Given the description of an element on the screen output the (x, y) to click on. 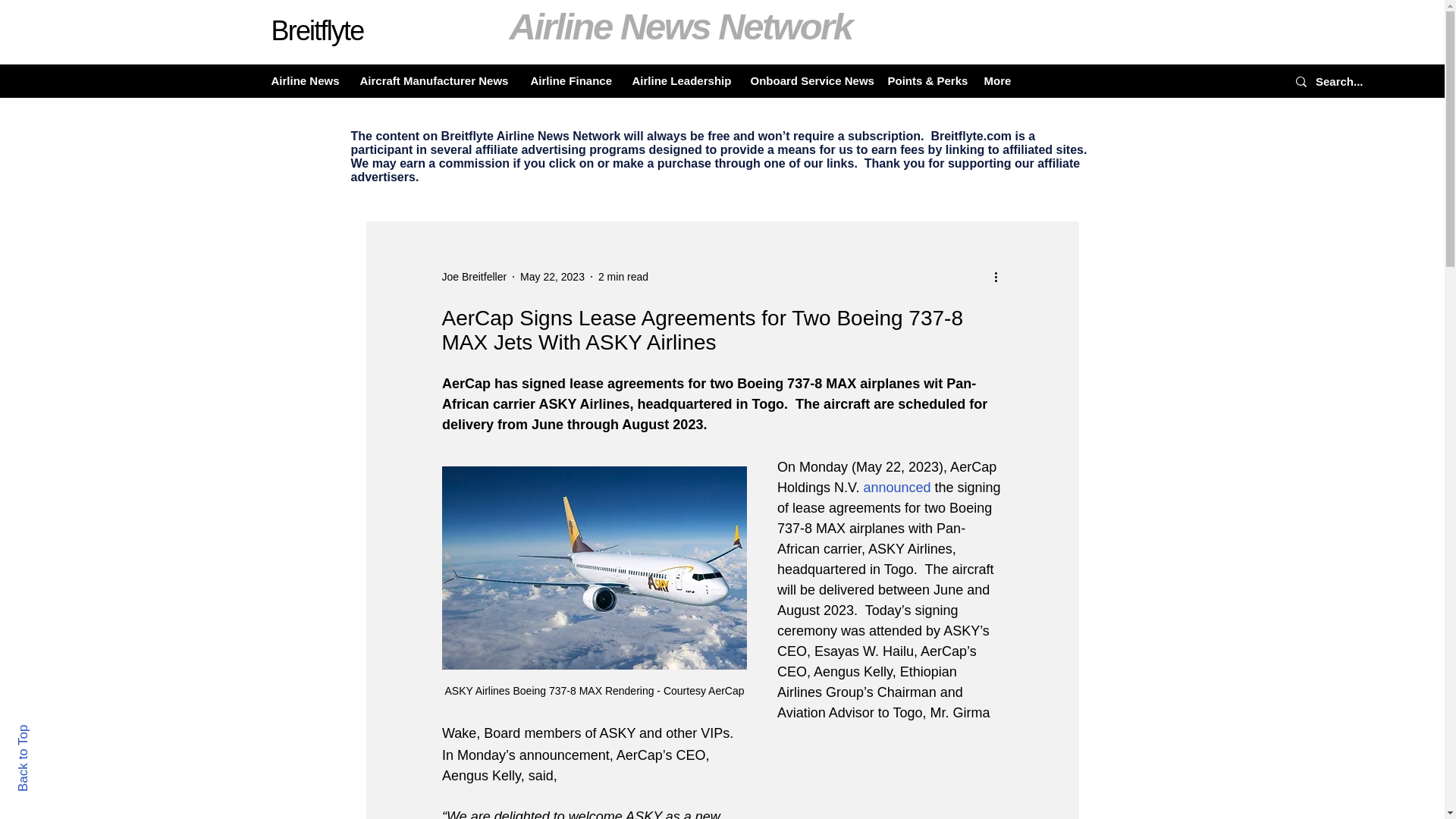
Airline Leadership (679, 81)
Breitflyte (317, 30)
Back to Top (49, 730)
Airline News (303, 81)
Airline Finance (569, 81)
May 22, 2023 (552, 275)
Onboard Service News (807, 81)
Joe Breitfeller (473, 276)
Aircraft Manufacturer News (434, 81)
Joe Breitfeller (473, 276)
